Given the description of an element on the screen output the (x, y) to click on. 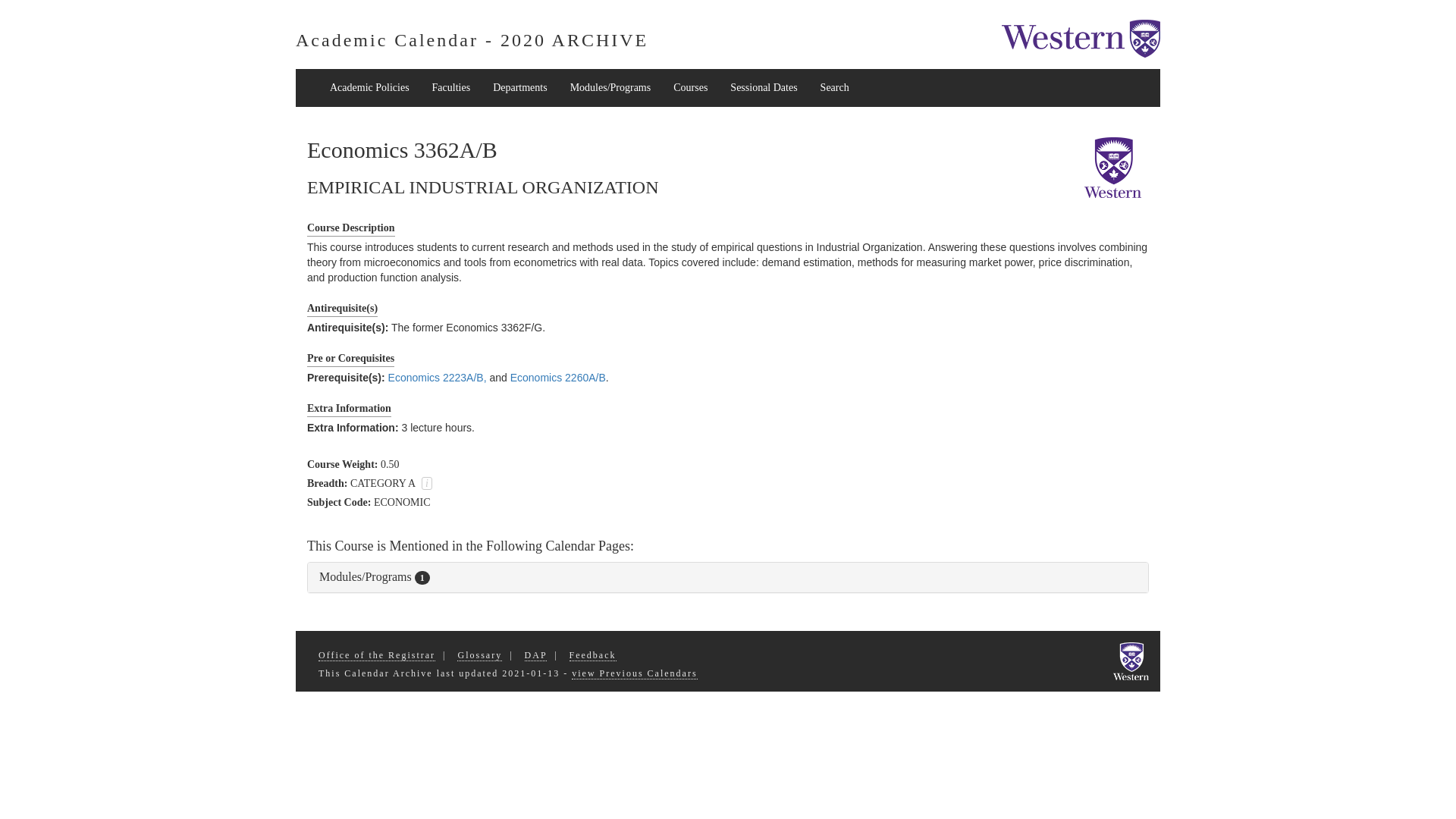
DAP (535, 654)
Academic Policies (369, 87)
Office of the Registrar (376, 654)
Feedback (592, 654)
Glossary (479, 654)
Courses (690, 87)
Search (834, 87)
Sessional Dates (763, 87)
Faculties (450, 87)
Departments (520, 87)
